Given the description of an element on the screen output the (x, y) to click on. 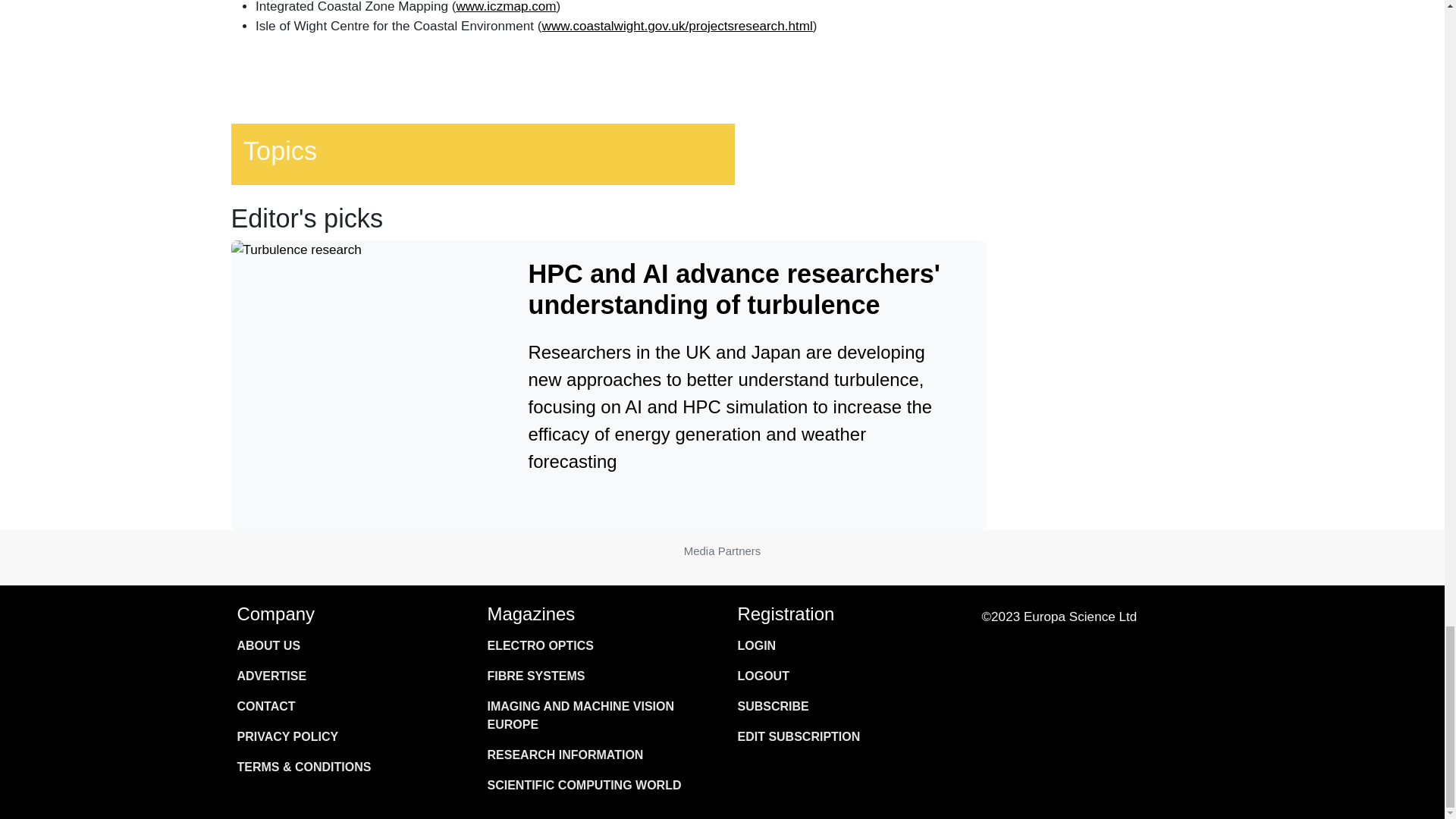
www.iczmap.com (505, 6)
